Given the description of an element on the screen output the (x, y) to click on. 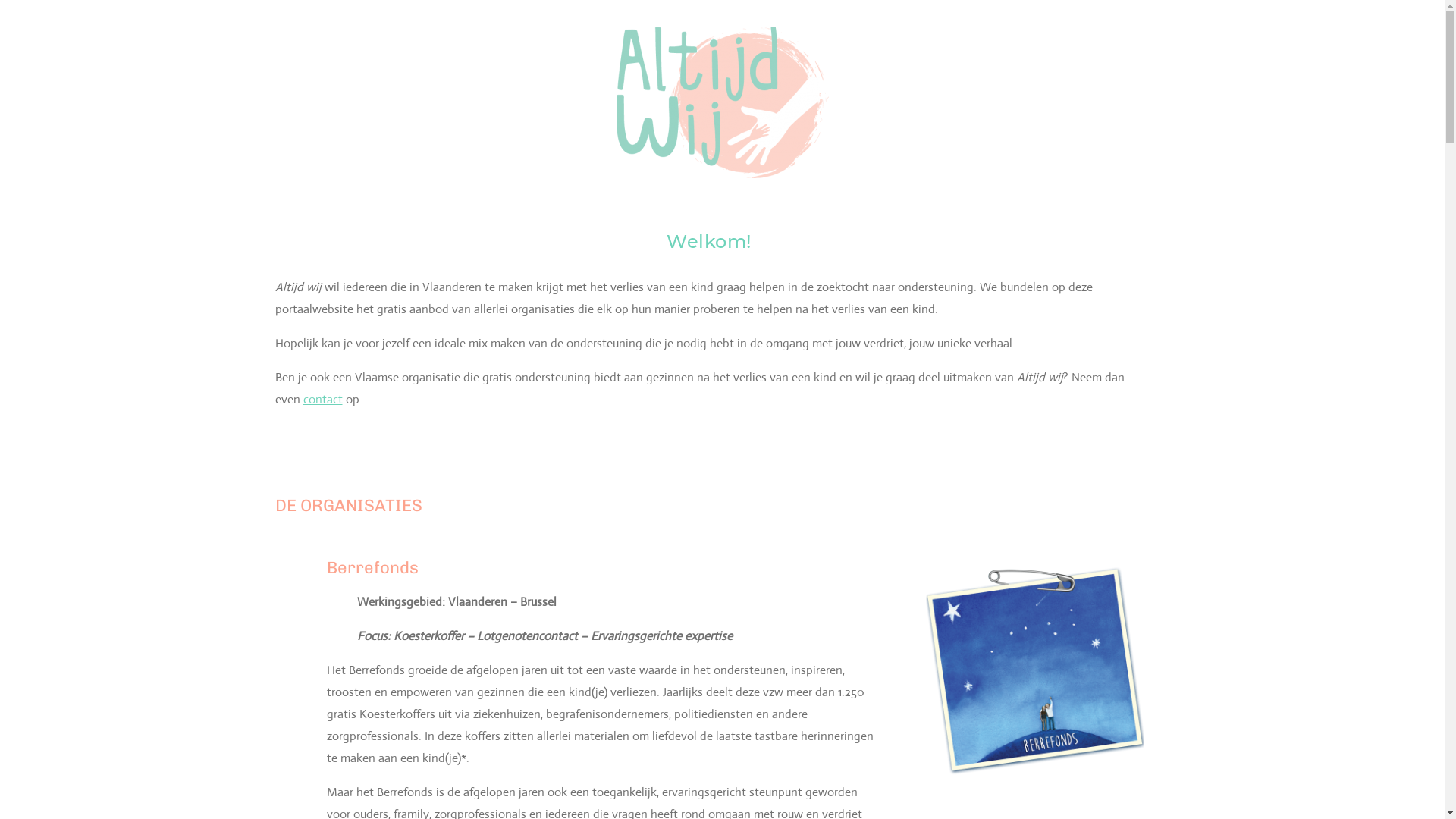
contact Element type: text (322, 399)
